Given the description of an element on the screen output the (x, y) to click on. 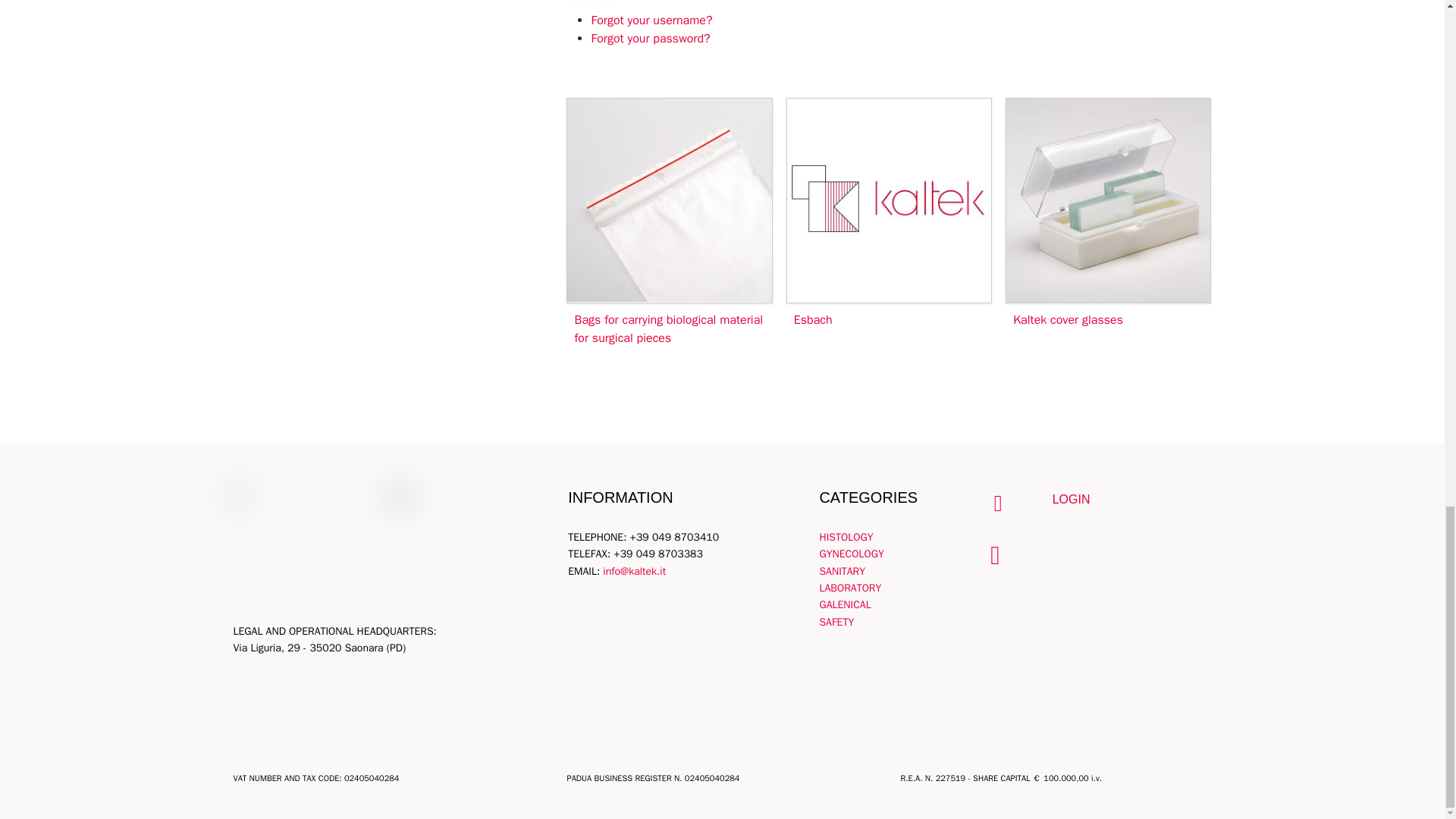
Kaltek cover glasses (1067, 319)
Bags for carrying biological material for surgical pieces (667, 328)
Esbach (812, 319)
